Given the description of an element on the screen output the (x, y) to click on. 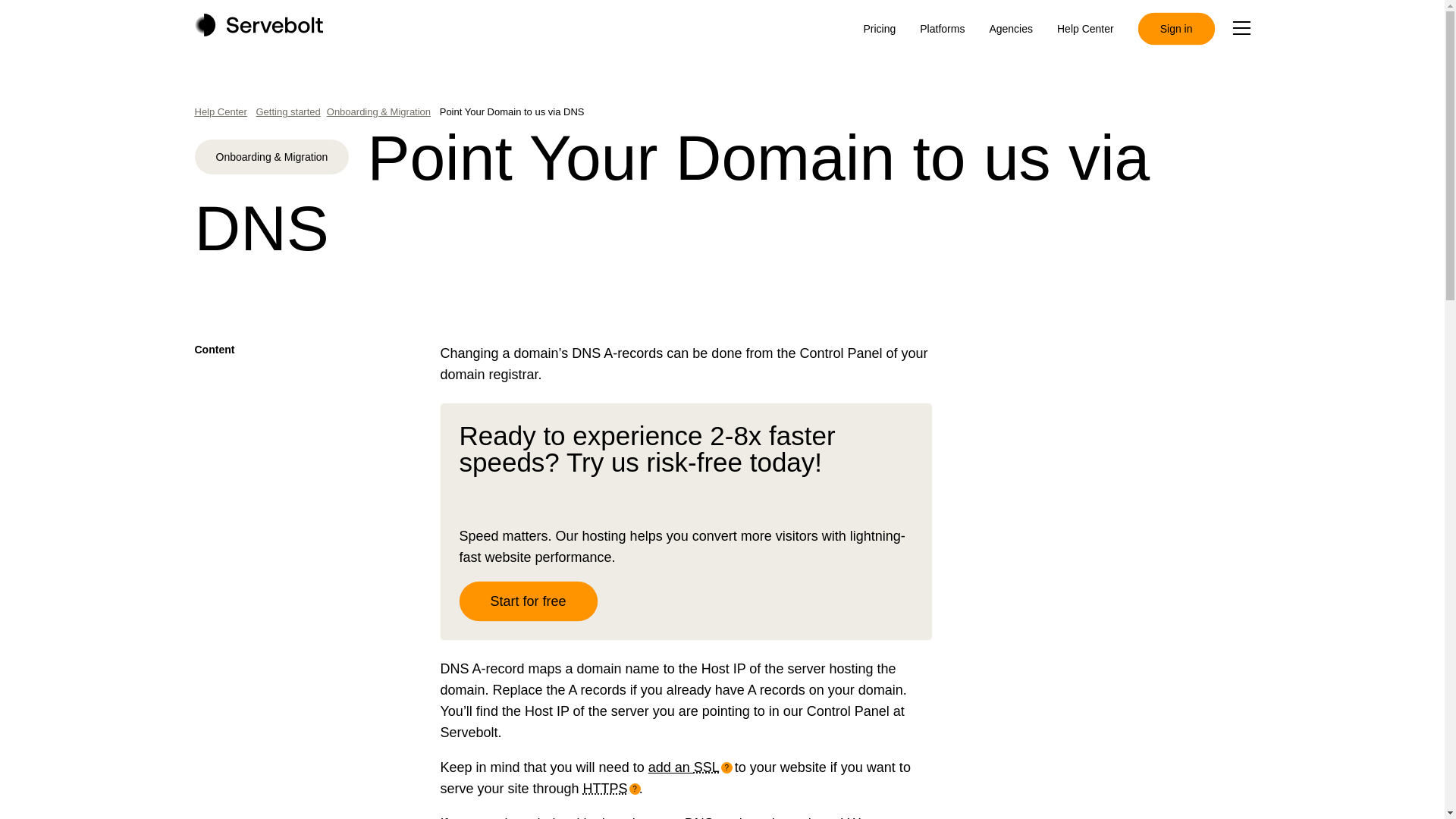
Sign in (1176, 29)
Platforms (941, 28)
Help Center (1085, 28)
Agencies (1010, 28)
Pricing (879, 28)
click to learn about HTTPS (611, 788)
click to learn about SSL (712, 767)
